Given the description of an element on the screen output the (x, y) to click on. 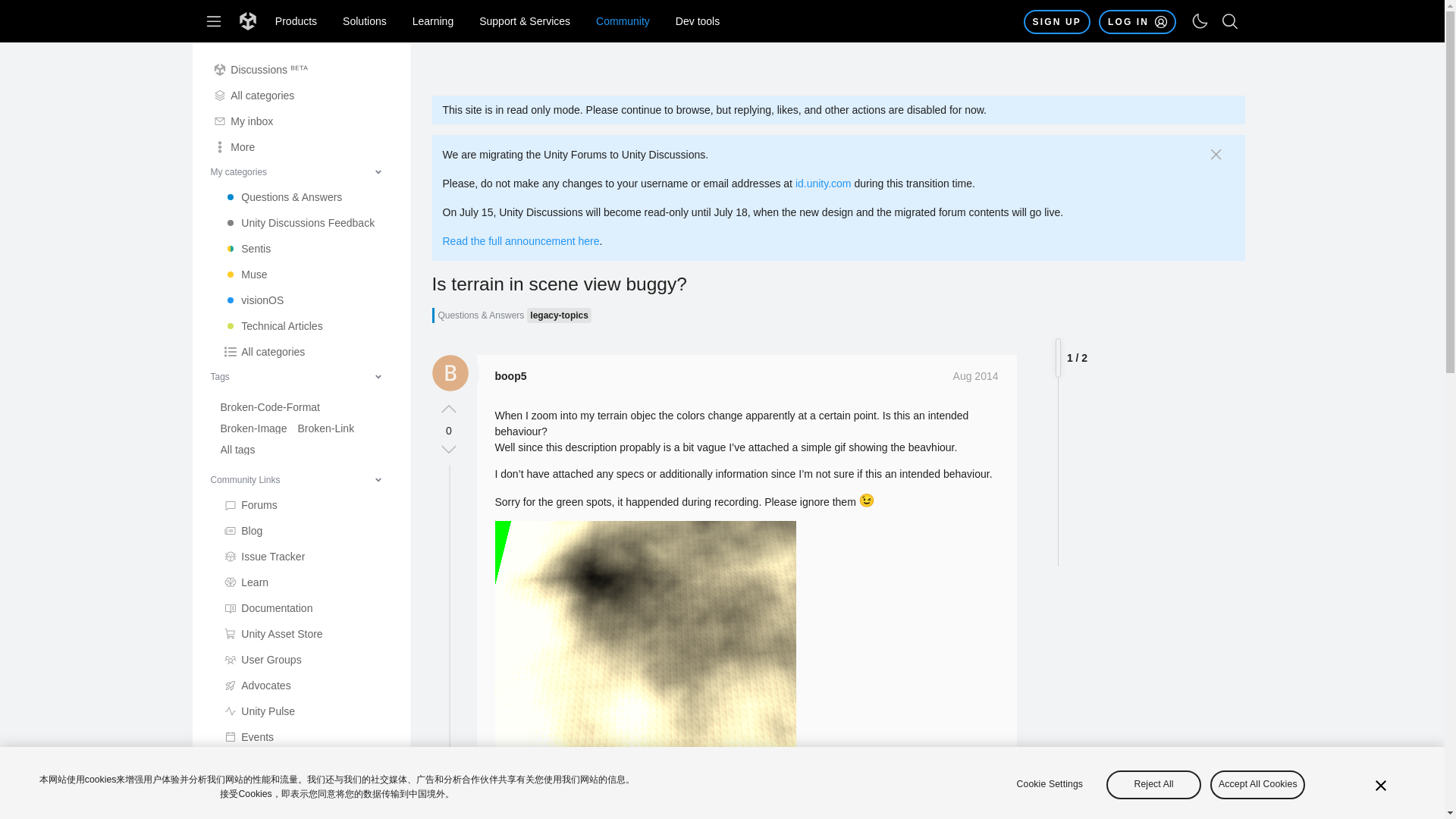
Welcome to the Technical Articles category. (306, 325)
Toggle color scheme (1199, 21)
Welcome (306, 248)
Dev tools (697, 21)
Play (306, 810)
Unity Pulse (306, 710)
Sidebar (213, 21)
SIGN UP (1056, 21)
Events (306, 736)
Issue Tracker (306, 556)
All categories (301, 95)
Blog (306, 530)
Solutions (364, 21)
More (301, 146)
